Given the description of an element on the screen output the (x, y) to click on. 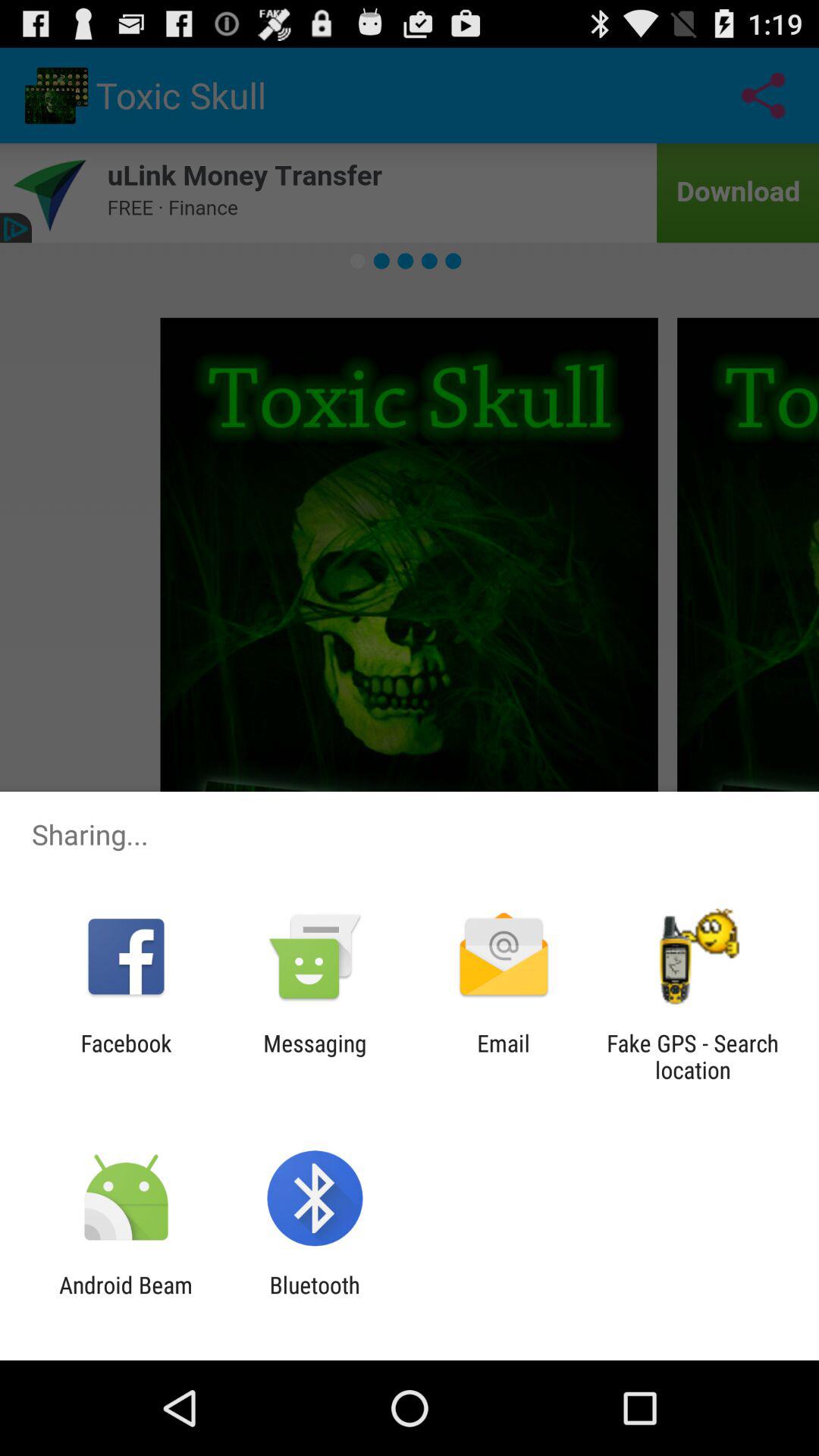
press item next to the messaging app (125, 1056)
